Given the description of an element on the screen output the (x, y) to click on. 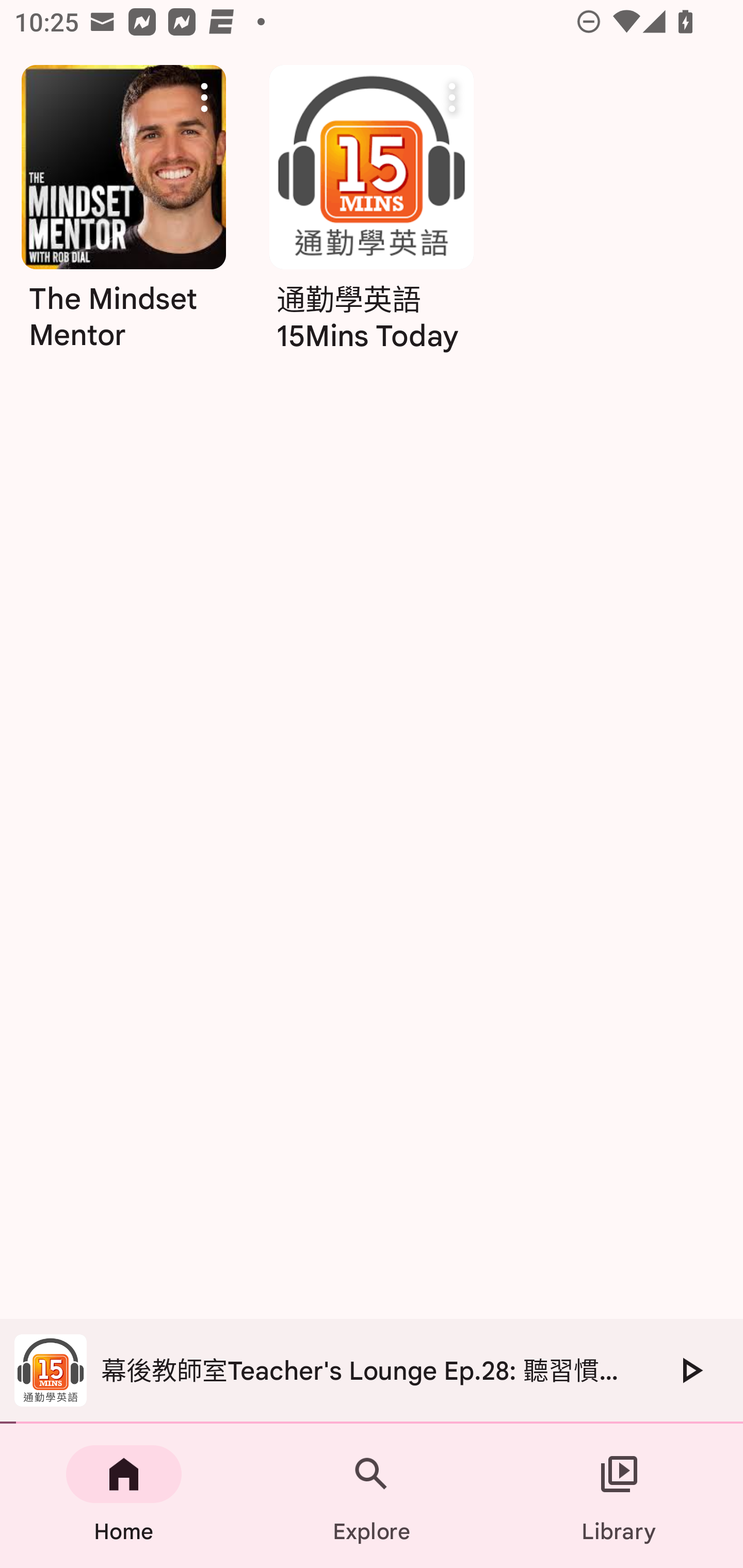
The Mindset Mentor More actions The Mindset Mentor (123, 214)
通勤學英語 15Mins Today More actions 通勤學英語 15Mins Today (371, 214)
More actions (203, 97)
More actions (452, 97)
Play (690, 1370)
Explore (371, 1495)
Library (619, 1495)
